Given the description of an element on the screen output the (x, y) to click on. 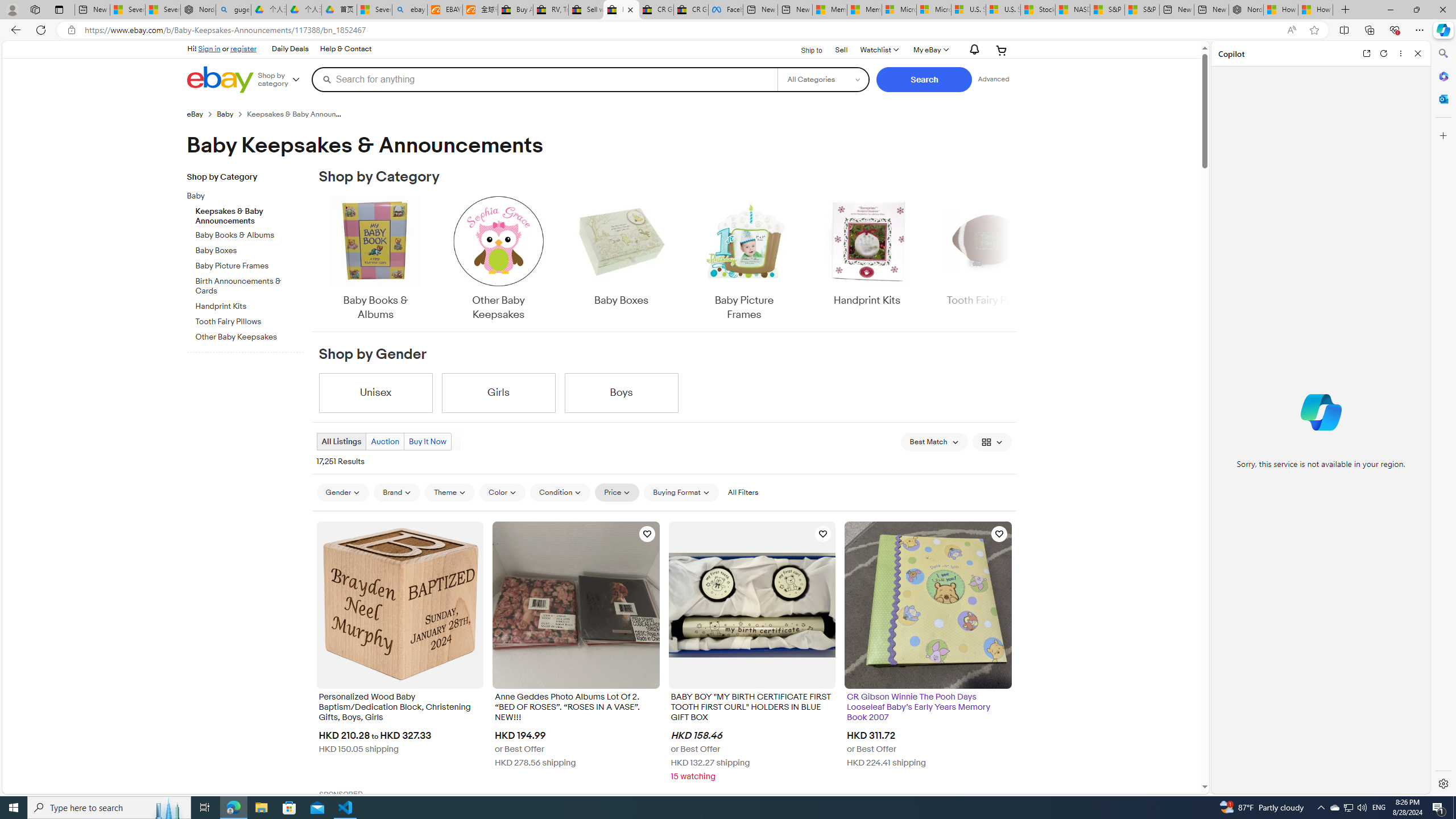
Select a category for search (823, 78)
Settings (1442, 783)
Baby Picture Frames (743, 258)
Unisex (375, 392)
Baby Books & Albums (375, 258)
Go to next slide (1009, 258)
Other Baby Keepsakes (498, 258)
Tooth Fairy Pillows (249, 321)
Theme (450, 492)
Shop by category (282, 79)
